Given the description of an element on the screen output the (x, y) to click on. 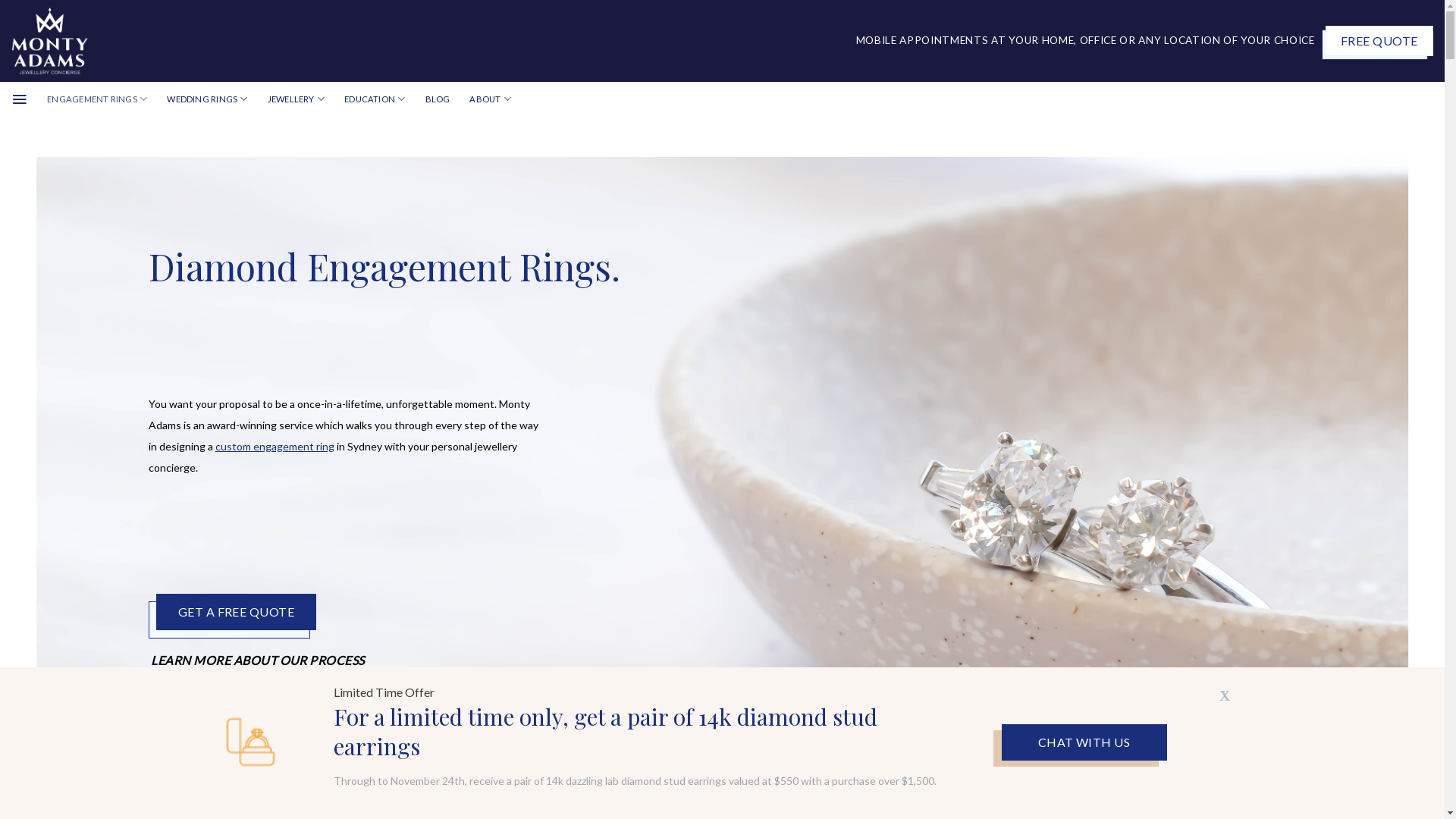
BLOG Element type: text (437, 98)
custom engagement ring Element type: text (274, 445)
GET A FREE QUOTE Element type: text (236, 611)
CHAT WITH US Element type: text (1083, 742)
ABOUT Element type: text (490, 98)
FREE QUOTE Element type: text (1379, 40)
JEWELLERY Element type: text (295, 98)
WEDDING RINGS Element type: text (206, 98)
ENGAGEMENT RINGS Element type: text (97, 98)
EDUCATION Element type: text (374, 98)
LEARN MORE ABOUT OUR PROCESS Element type: text (257, 660)
